Given the description of an element on the screen output the (x, y) to click on. 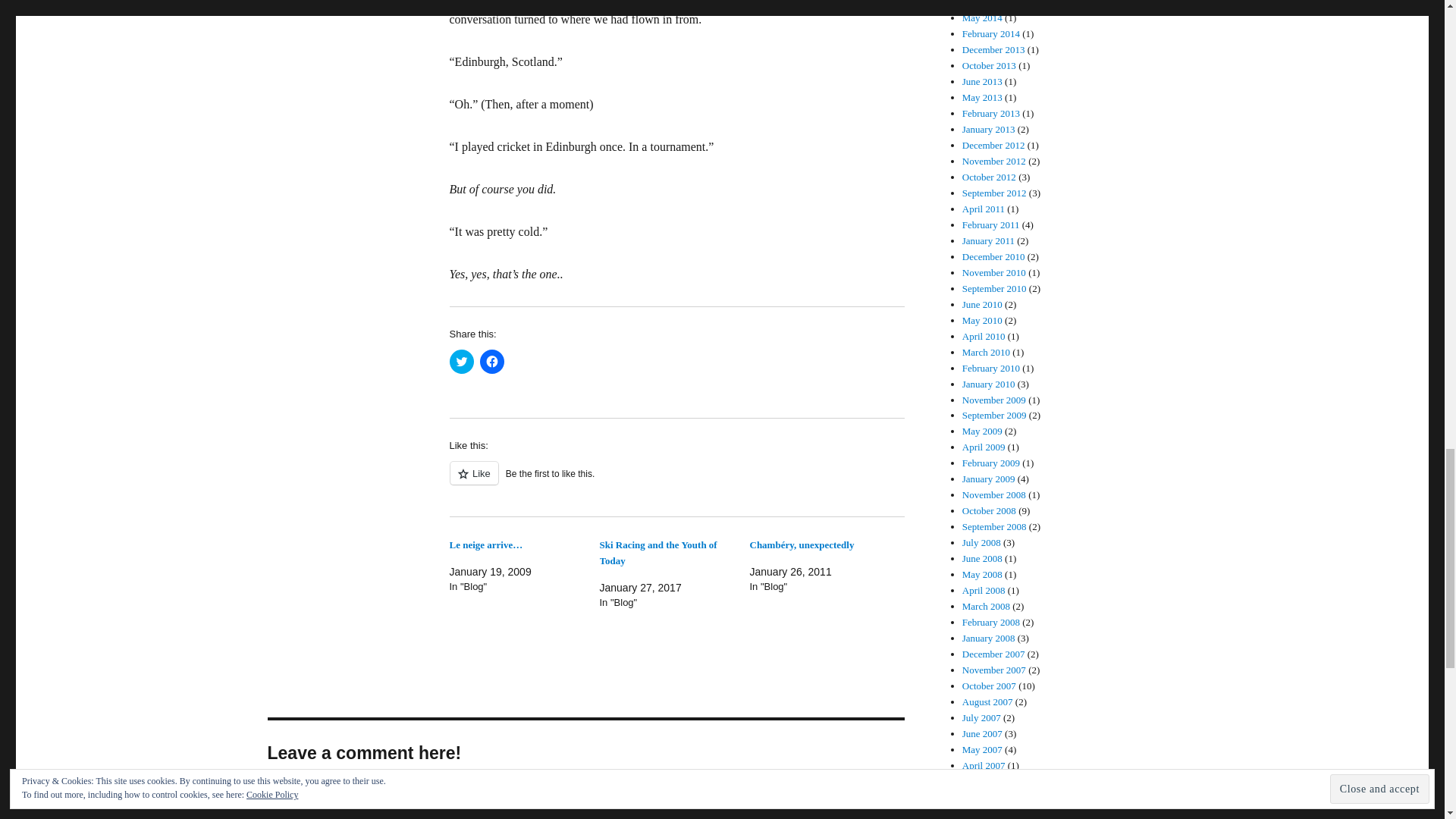
Ski Racing and the Youth of Today (657, 552)
Like or Reblog (676, 481)
Click to share on Twitter (460, 361)
Click to share on Facebook (491, 361)
Ski Racing and the Youth of Today (657, 552)
